Given the description of an element on the screen output the (x, y) to click on. 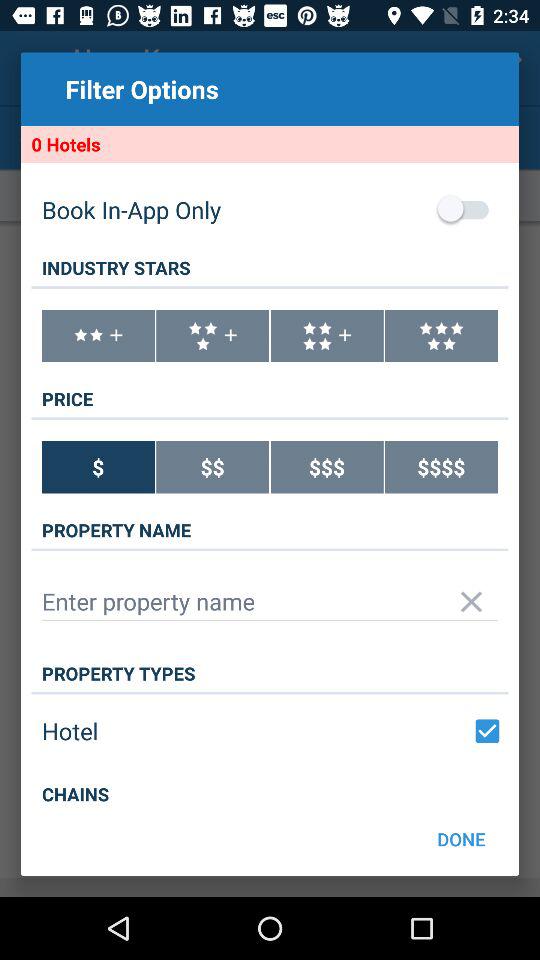
sort by 3+ stars filter (212, 335)
